Given the description of an element on the screen output the (x, y) to click on. 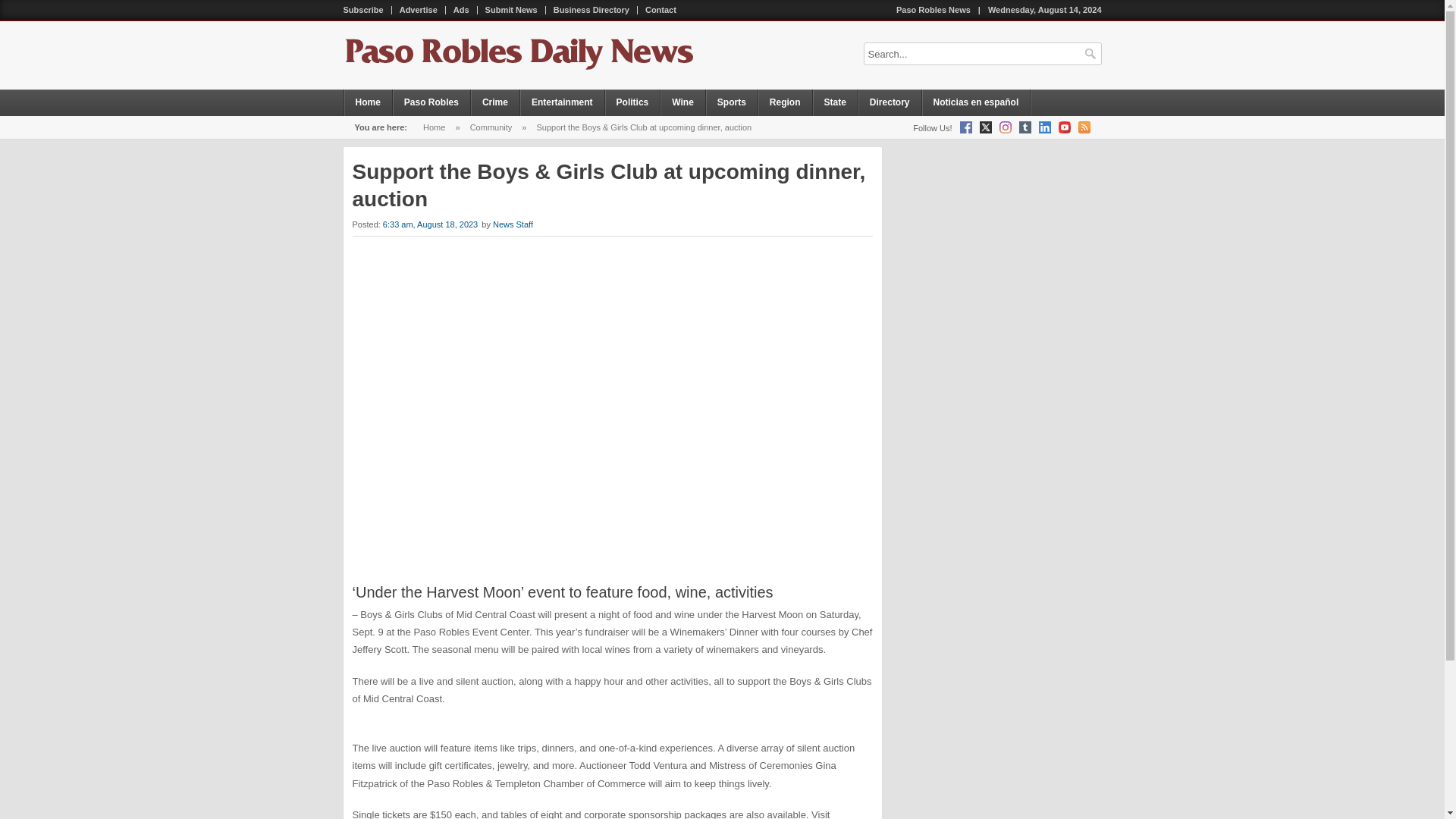
Sports (732, 102)
Ads (461, 9)
State (835, 102)
Region (785, 102)
Contact (660, 9)
Paso Robles Business Directory (591, 9)
Follow Us on X (985, 127)
Entertainment (562, 102)
Follow Us on RSS (1084, 127)
View all posts by News Staff (512, 224)
